Given the description of an element on the screen output the (x, y) to click on. 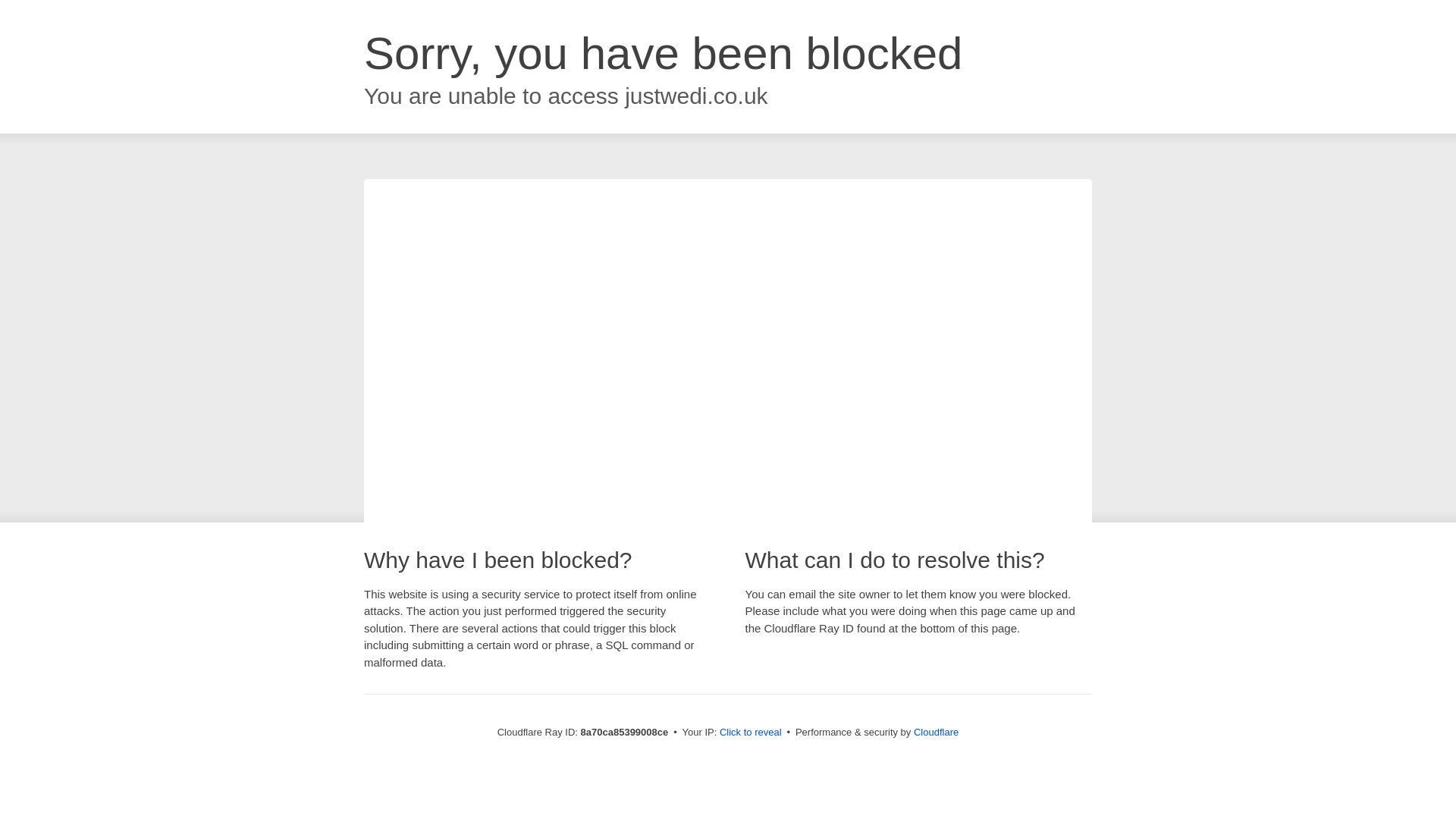
Cloudflare (936, 731)
Click to reveal (750, 732)
